Given the description of an element on the screen output the (x, y) to click on. 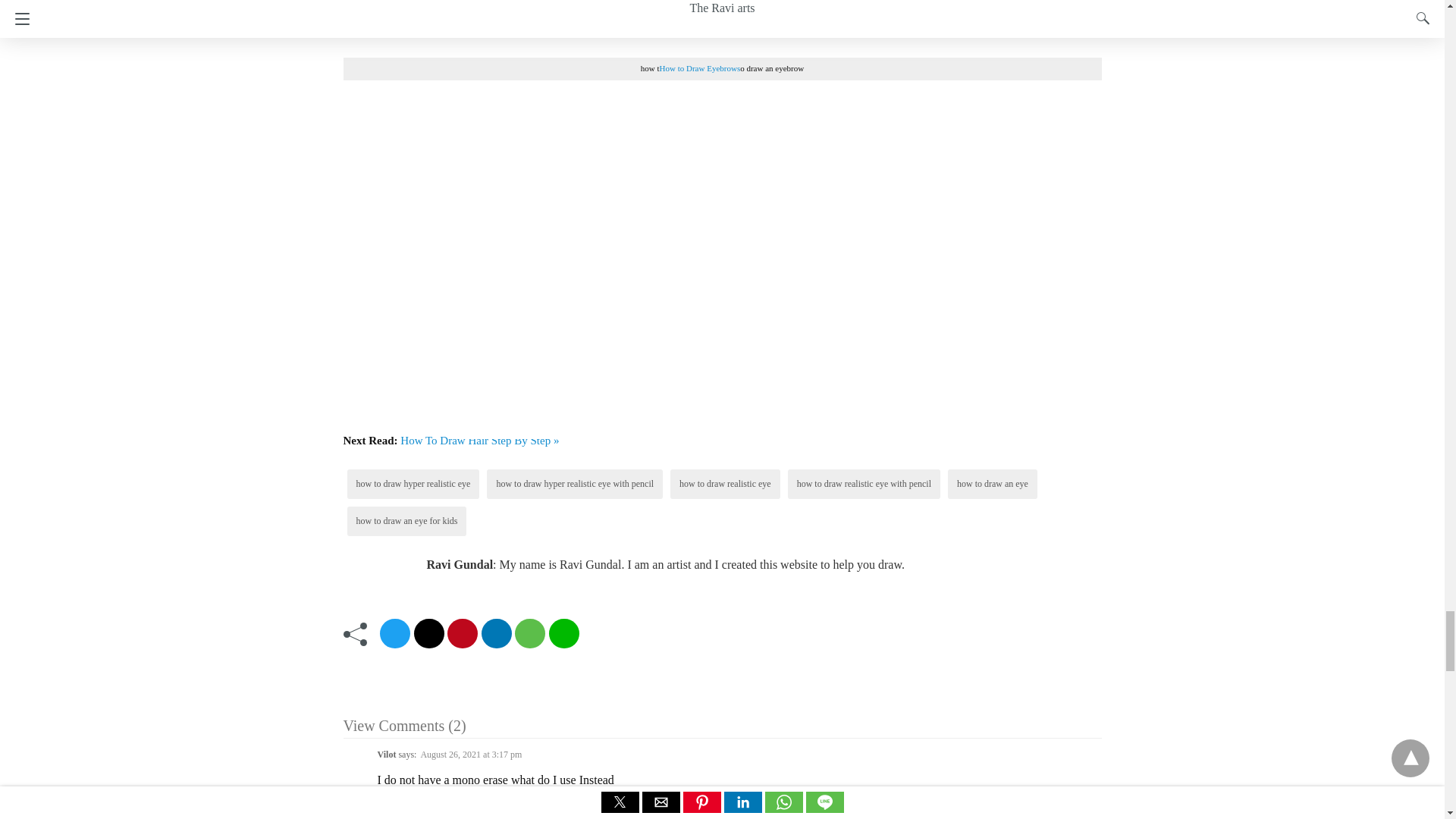
whatsapp share (529, 633)
linkedin share (495, 633)
how to draw hyper realistic eye (413, 483)
how to draw an eye for kids (407, 520)
how to draw realistic eye with pencil (863, 483)
mailto (428, 633)
How to Draw Eyebrows (700, 67)
how to draw realistic eye (725, 483)
how to draw an eye (991, 483)
August 26, 2021 at 3:17 pm (470, 754)
